Given the description of an element on the screen output the (x, y) to click on. 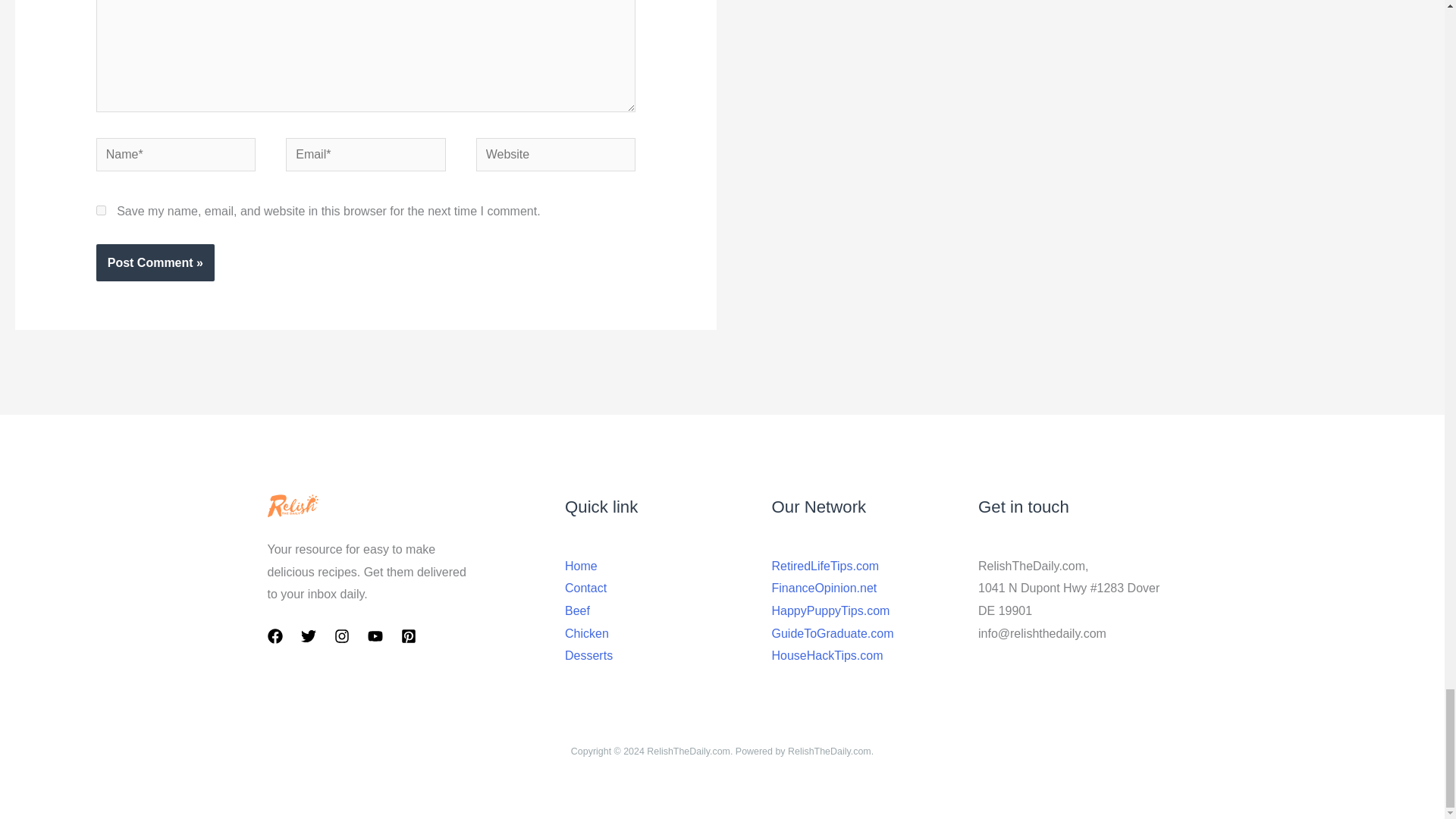
yes (101, 210)
